Given the description of an element on the screen output the (x, y) to click on. 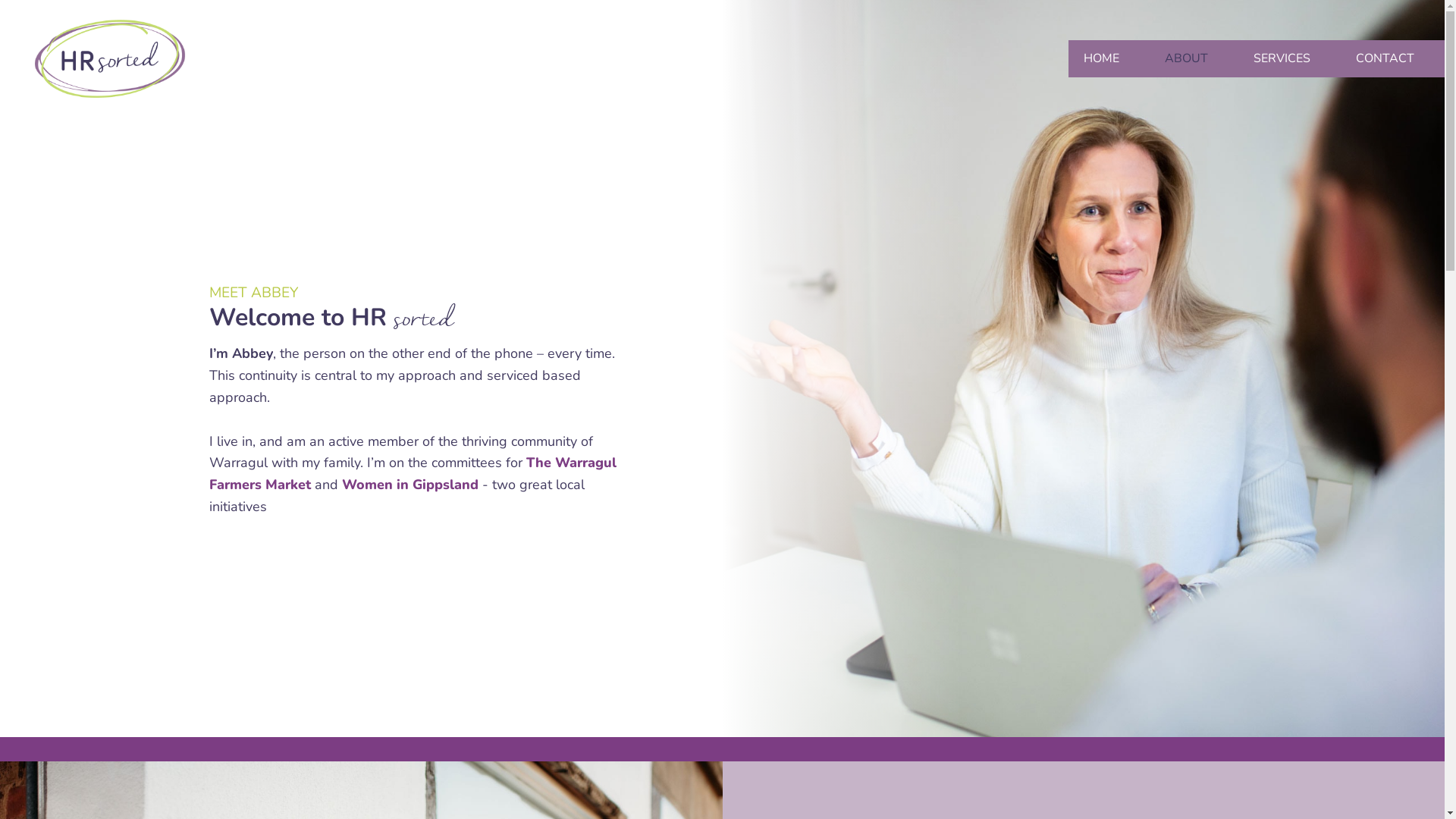
CONTACT Element type: text (1392, 59)
Women in Gippsland Element type: text (410, 484)
SERVICES Element type: text (1289, 59)
The Warragul Farmers Market Element type: text (412, 473)
HOME Element type: text (1108, 59)
ABOUT Element type: text (1193, 59)
